Given the description of an element on the screen output the (x, y) to click on. 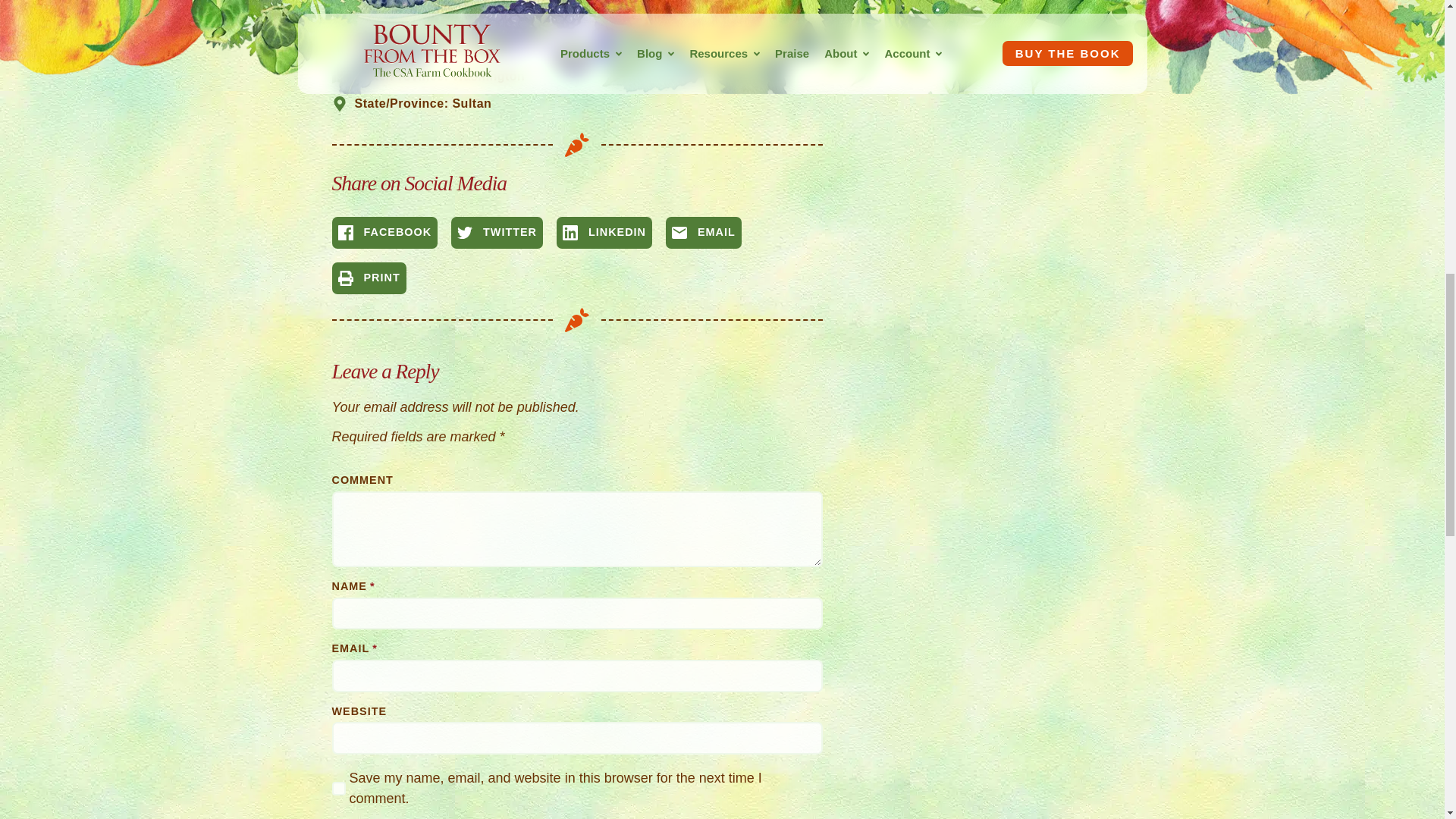
yes (338, 788)
